Given the description of an element on the screen output the (x, y) to click on. 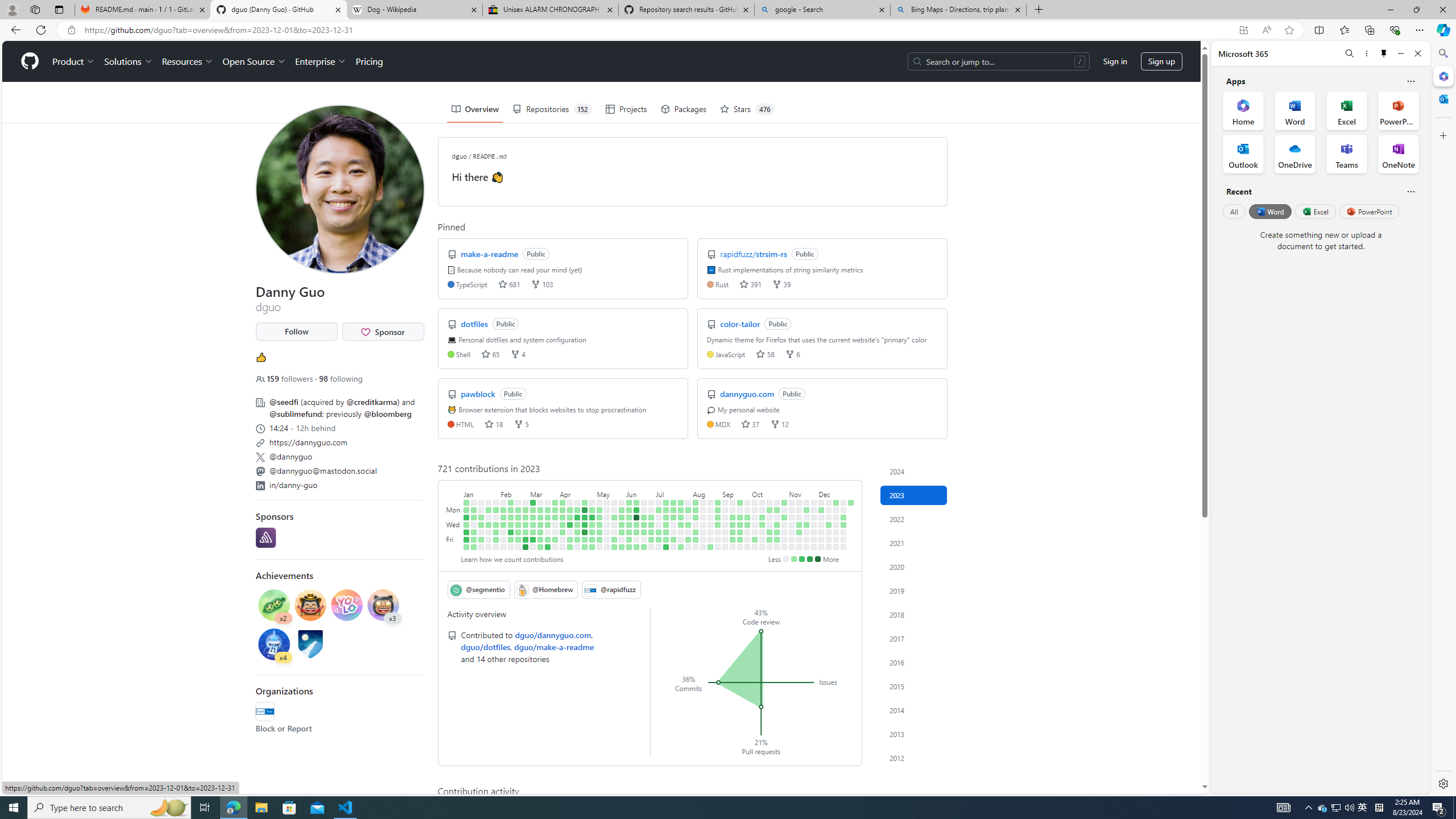
4 contributions on February 17th. (510, 539)
2 contributions on June 3rd. (621, 546)
No contributions on December 5th. (821, 517)
1 contribution on July 29th. (681, 546)
PowerPoint Office App (1398, 110)
No contributions on February 26th. (525, 502)
1 contribution on November 20th. (806, 509)
No contributions on November 6th. (791, 509)
4 contributions on April 15th. (569, 546)
No contributions on December 2nd. (813, 546)
 @segmentio (477, 588)
6 contributions on February 15th. (510, 524)
OneDrive Office App (1295, 154)
No contributions on September 29th. (747, 539)
2 contributions on July 12th. (665, 524)
